Given the description of an element on the screen output the (x, y) to click on. 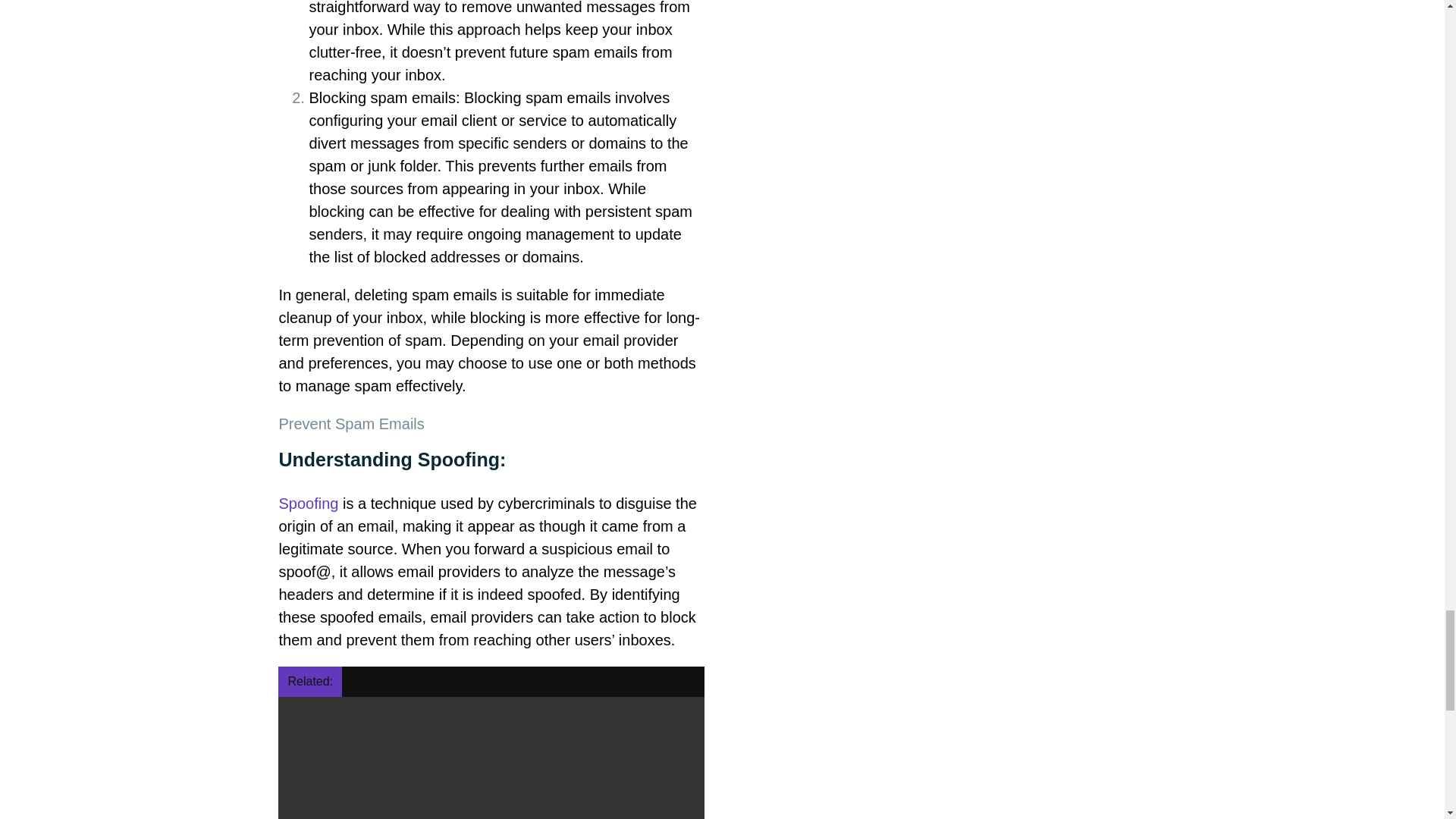
Spoofing (307, 503)
